Given the description of an element on the screen output the (x, y) to click on. 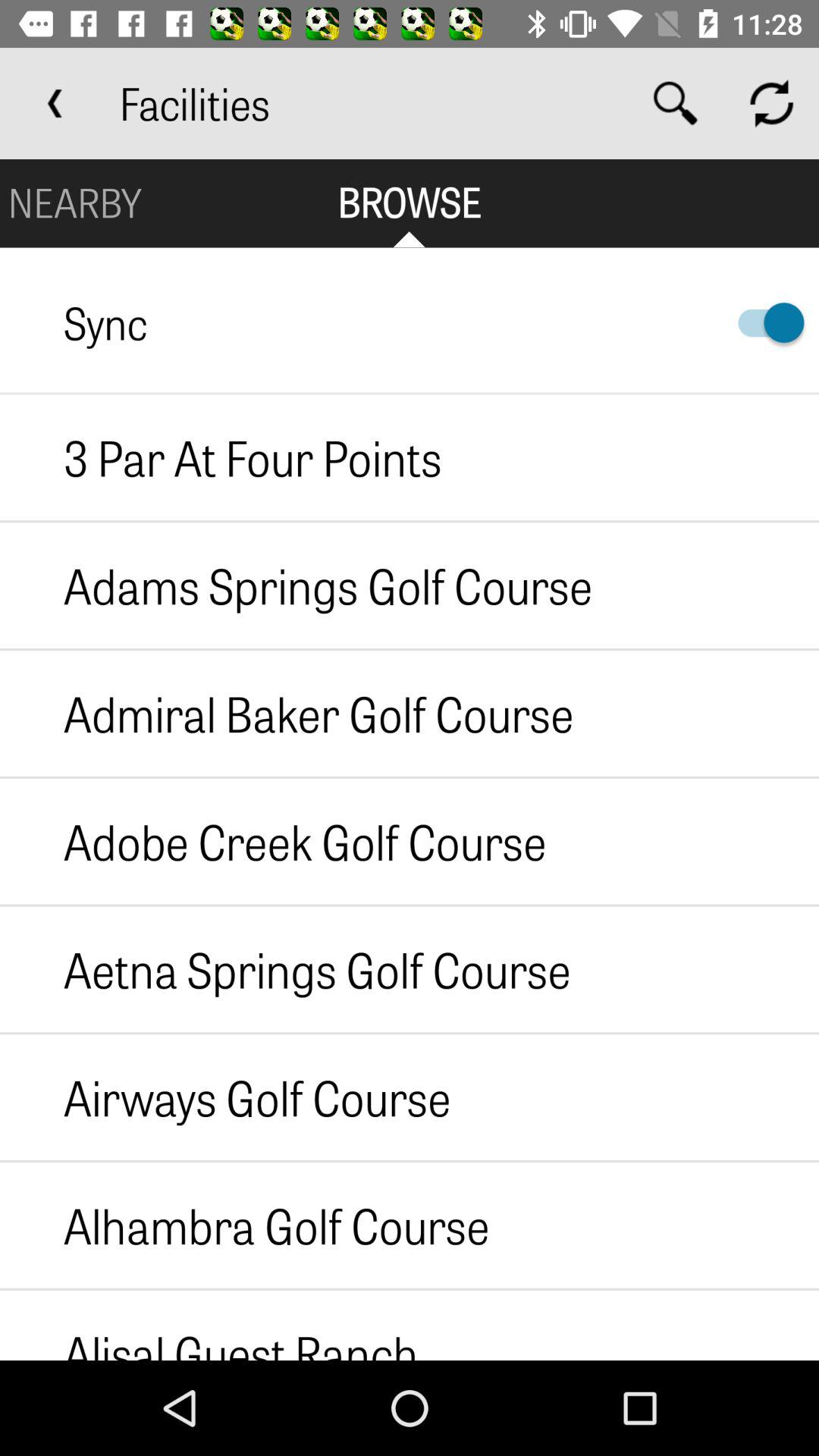
turn on the icon to the left of facilities (55, 103)
